Given the description of an element on the screen output the (x, y) to click on. 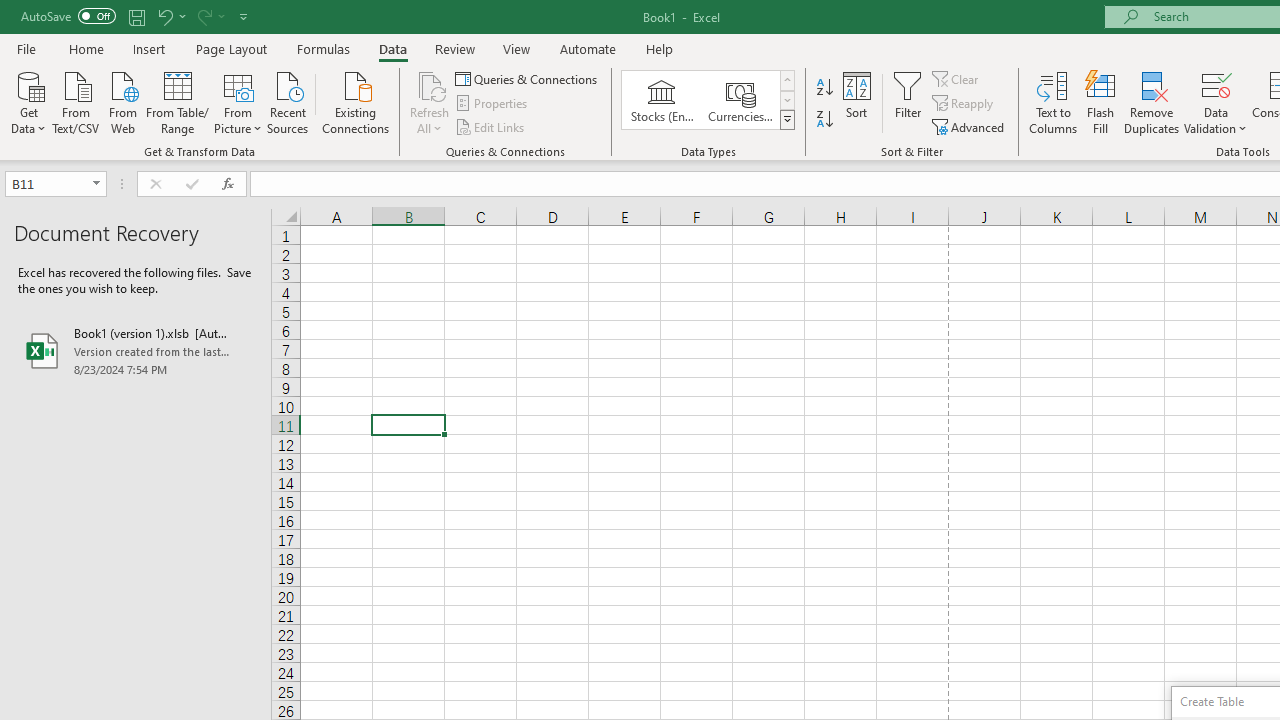
Help (660, 48)
From Web (122, 101)
Text to Columns... (1053, 102)
Refresh All (429, 84)
From Table/Range (177, 101)
Sort Z to A (824, 119)
Flash Fill (1101, 102)
Undo (164, 15)
Class: NetUIImage (787, 119)
Sort A to Z (824, 87)
Edit Links (491, 126)
Open (96, 183)
